Given the description of an element on the screen output the (x, y) to click on. 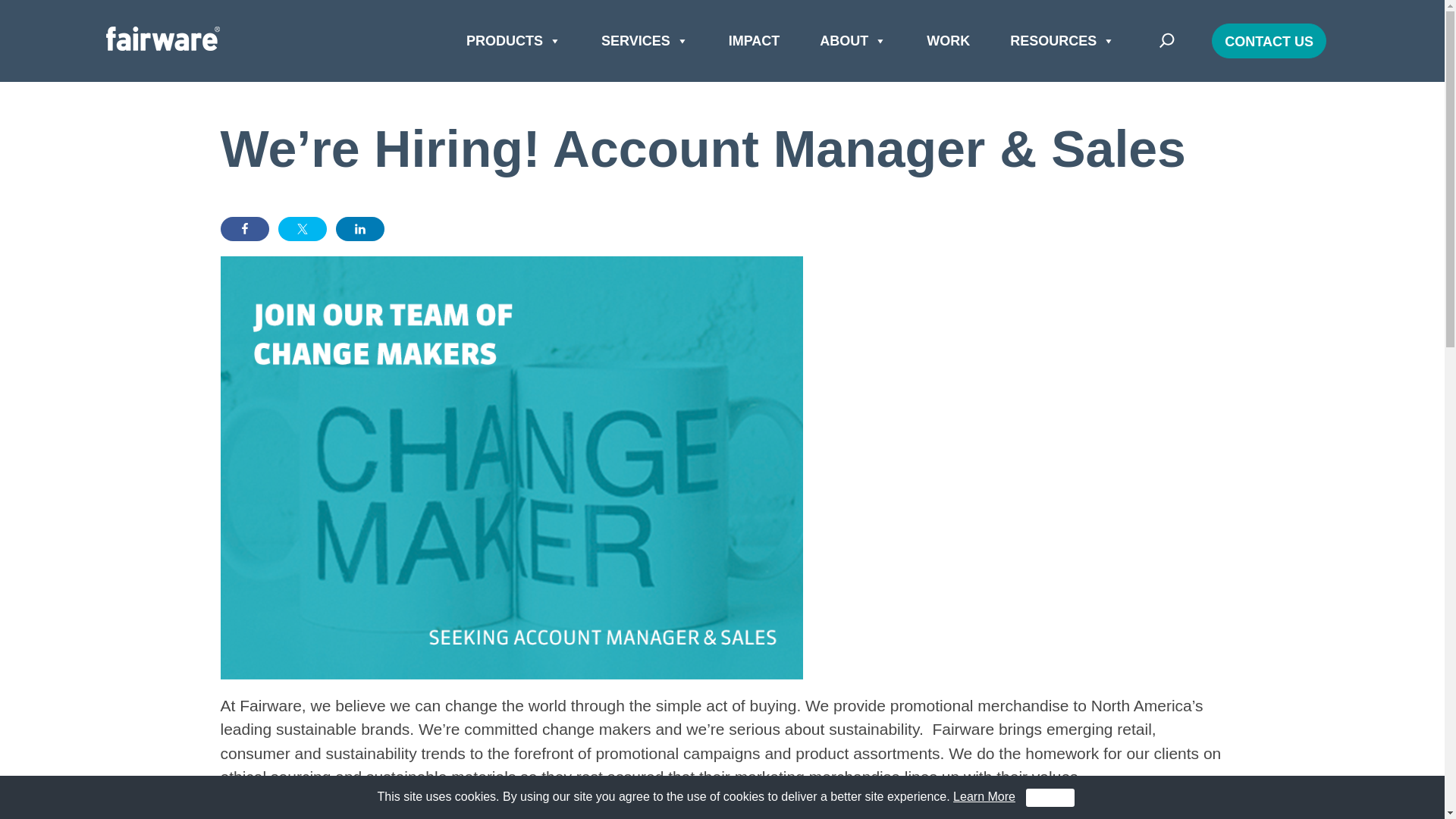
ABOUT (852, 40)
PRODUCTS (513, 40)
SERVICES (644, 40)
CONTACT US (1268, 40)
Share on LinkedIn (359, 228)
Share on Twitter (302, 228)
Share on Facebook (243, 228)
IMPACT (753, 40)
RESOURCES (1062, 40)
WORK (947, 40)
